Given the description of an element on the screen output the (x, y) to click on. 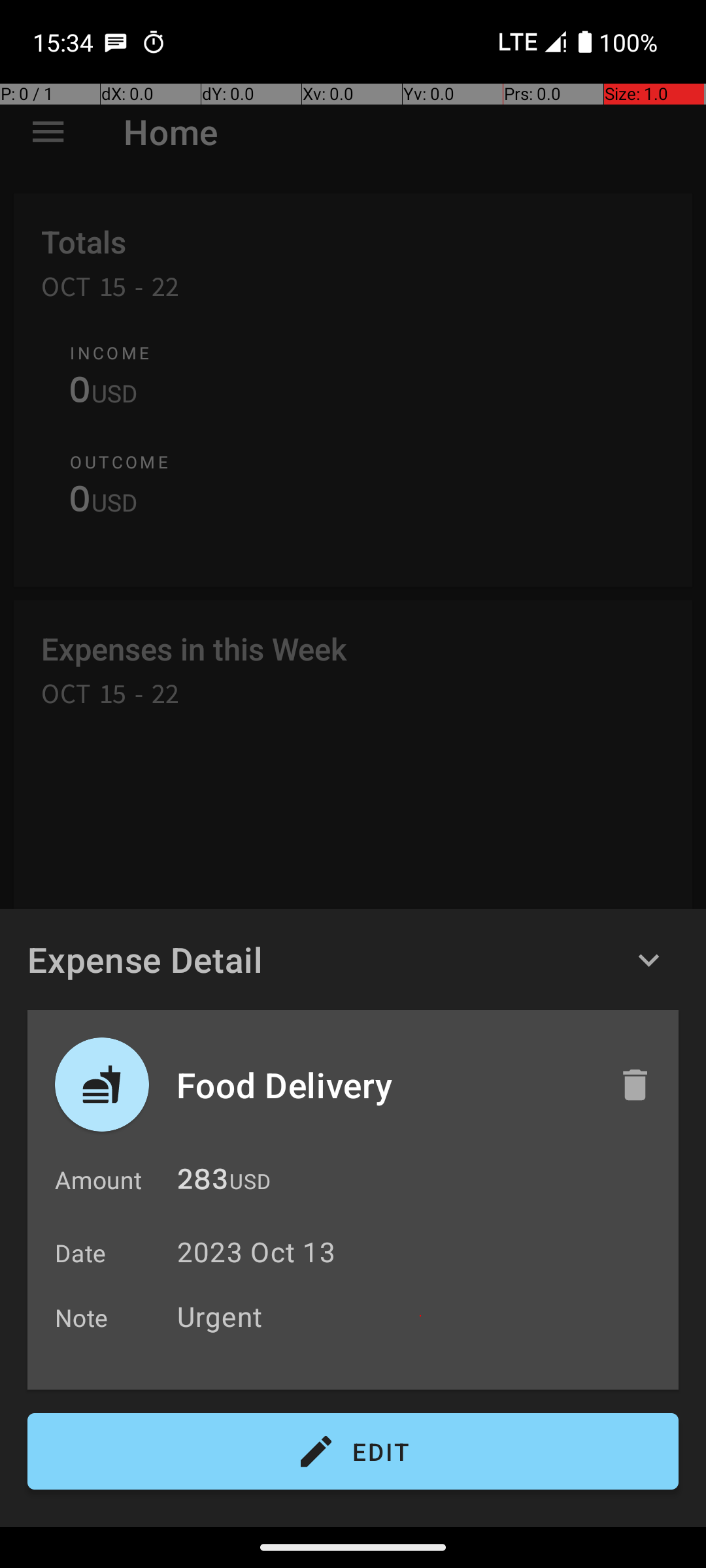
Food Delivery Element type: android.widget.TextView (383, 1084)
283 Element type: android.widget.TextView (202, 1182)
Urgent Element type: android.widget.TextView (420, 1315)
SMS Messenger notification: +15785288010 Element type: android.widget.ImageView (115, 41)
